Given the description of an element on the screen output the (x, y) to click on. 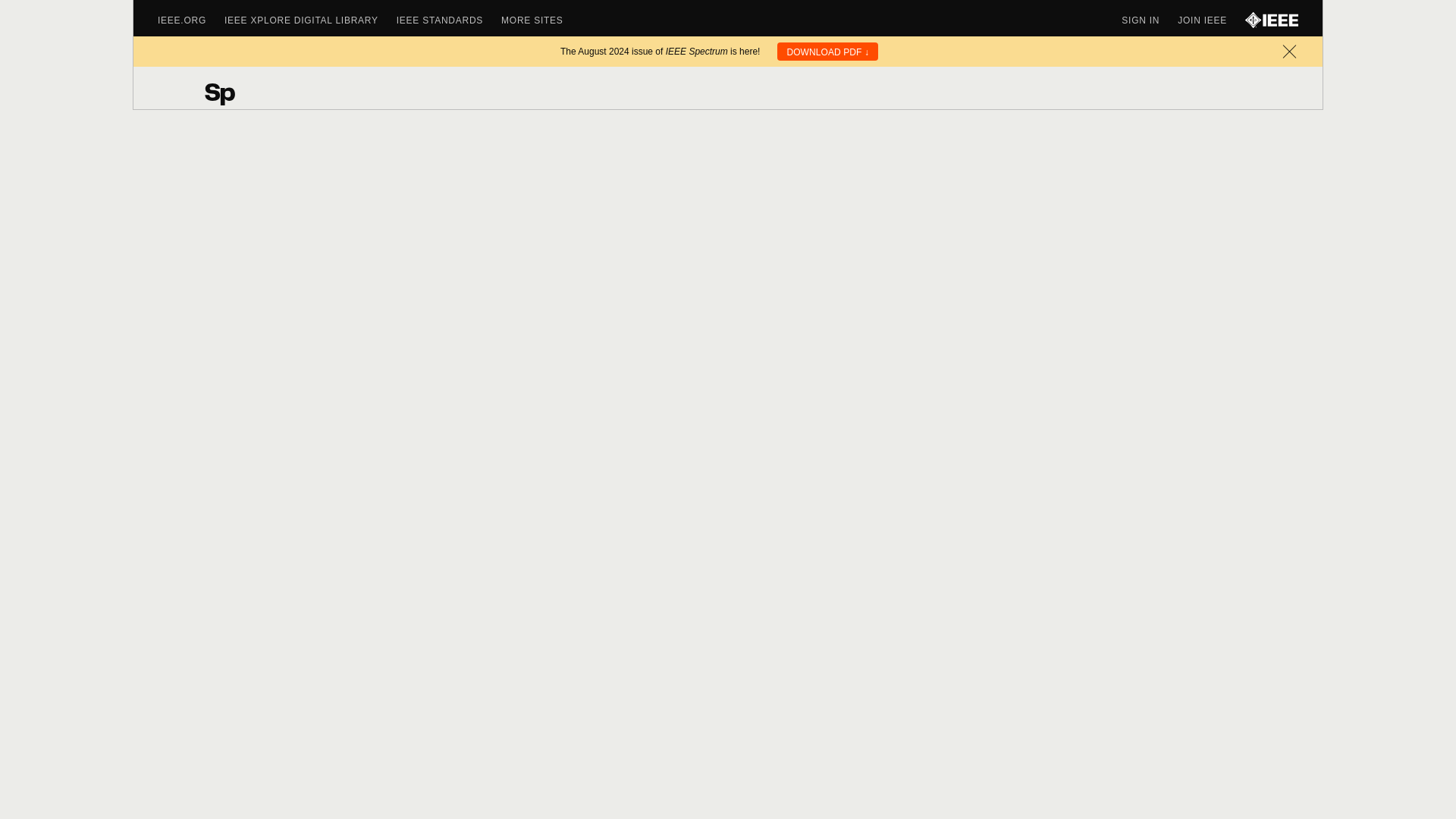
JOIN IEEE (1210, 20)
IEEE.ORG (190, 20)
IEEE XPLORE DIGITAL LIBRARY (310, 20)
MORE SITES (540, 20)
IEEE STANDARDS (448, 20)
SIGN IN (1149, 20)
Spectrum Logo (238, 92)
Close bar (1288, 51)
